Given the description of an element on the screen output the (x, y) to click on. 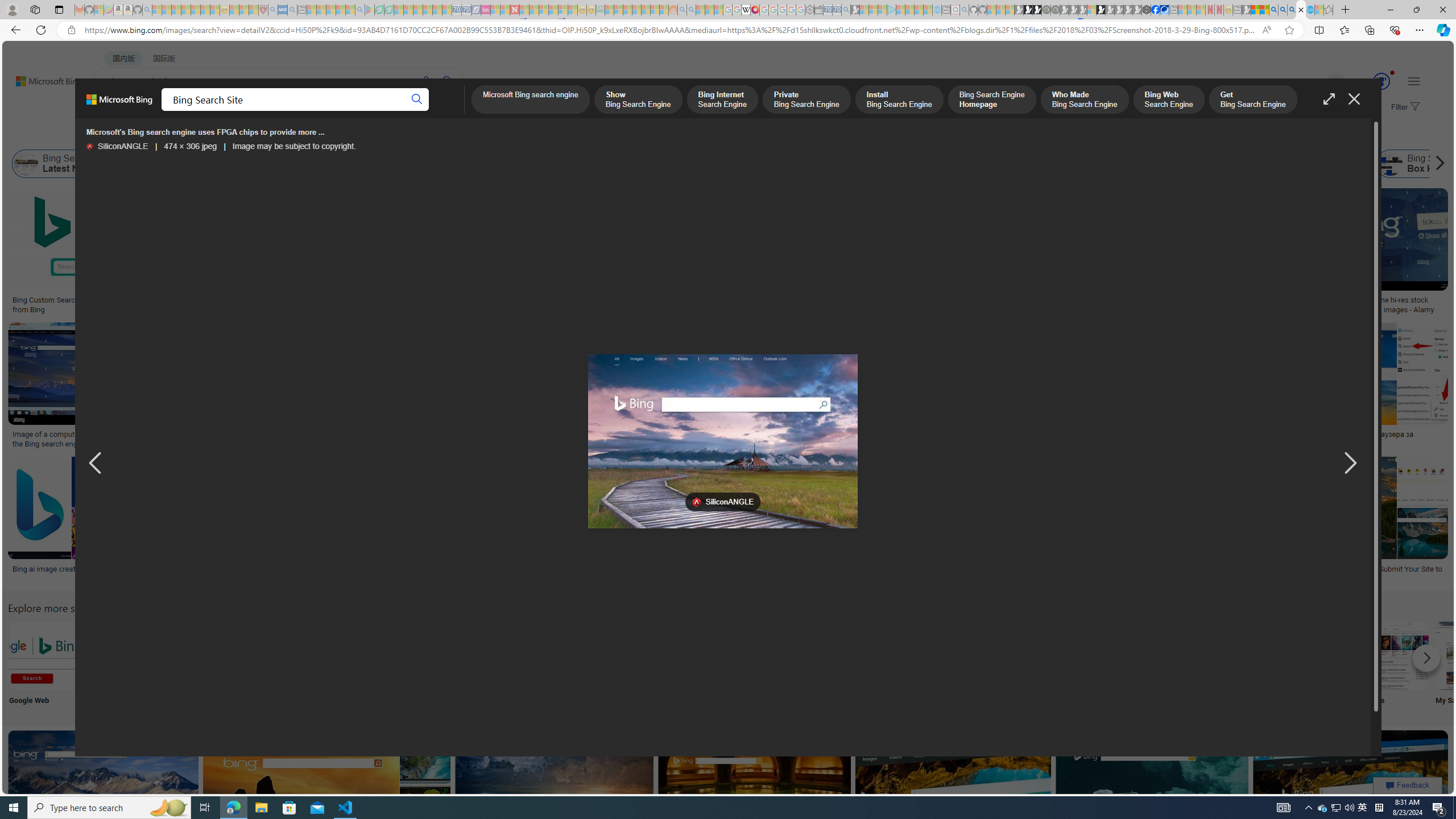
Bing as Search Engine (126, 163)
FIX: Downloading proxy script message on Google Chrome (526, 573)
Robert H. Shmerling, MD - Harvard Health - Sleeping (263, 9)
Bing Web Search Engine (1168, 100)
Image size (126, 135)
Bing Movies Search Movies (1393, 665)
Local - MSN - Sleeping (253, 9)
Personal Profile (12, 9)
Back to Bing search (41, 78)
Microsoft Start Gaming - Sleeping (854, 9)
Bing Search Tricks Tricks (1319, 665)
